Given the description of an element on the screen output the (x, y) to click on. 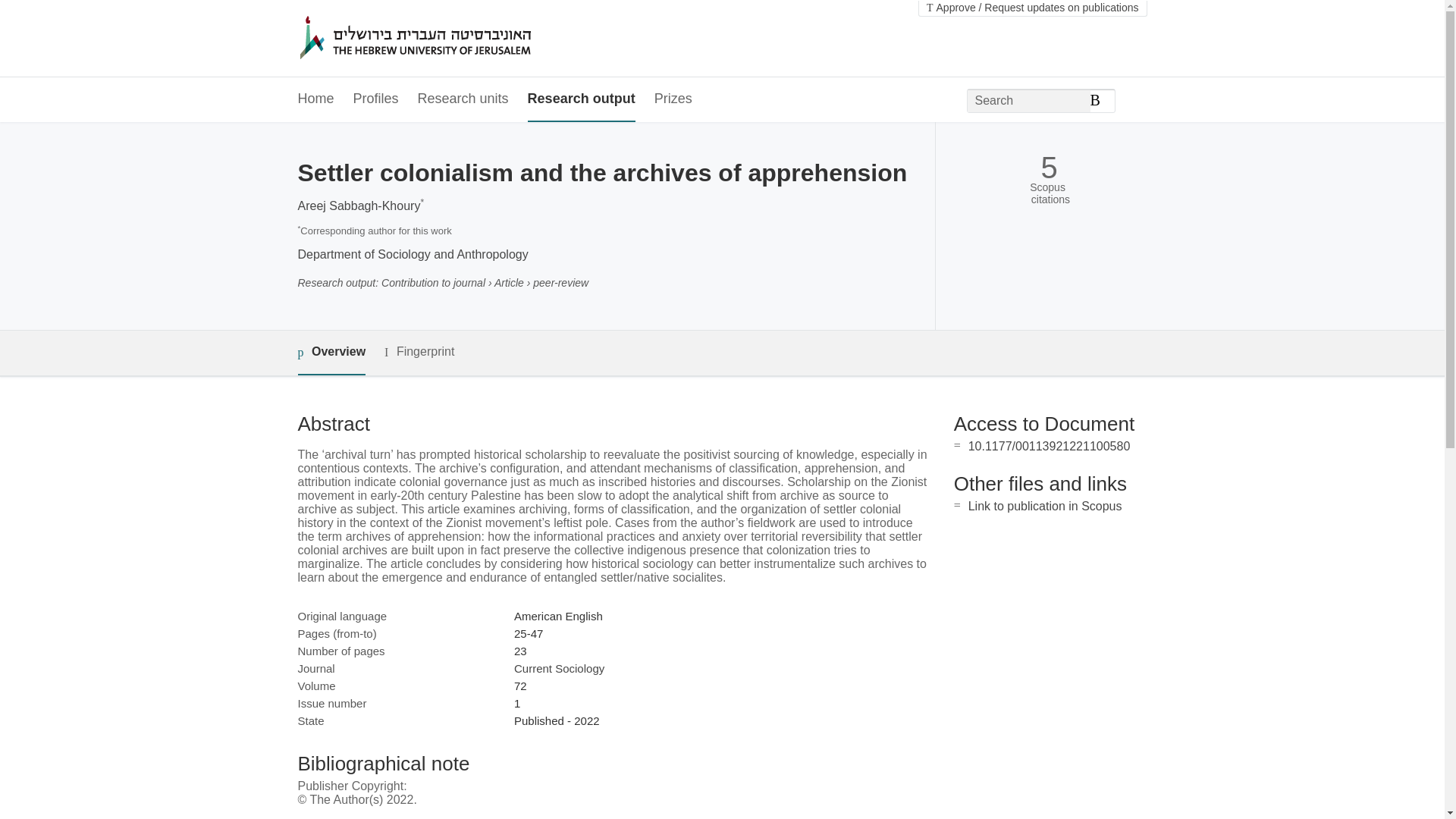
Areej Sabbagh-Khoury (358, 205)
Profiles (375, 99)
Fingerprint (419, 351)
The Hebrew University of Jerusalem Home (447, 38)
Home (315, 99)
Prizes (673, 99)
Link to publication in Scopus (1045, 505)
Department of Sociology and Anthropology (412, 254)
Research units (462, 99)
Overview (331, 352)
Research output (580, 99)
Current Sociology (558, 667)
